Given the description of an element on the screen output the (x, y) to click on. 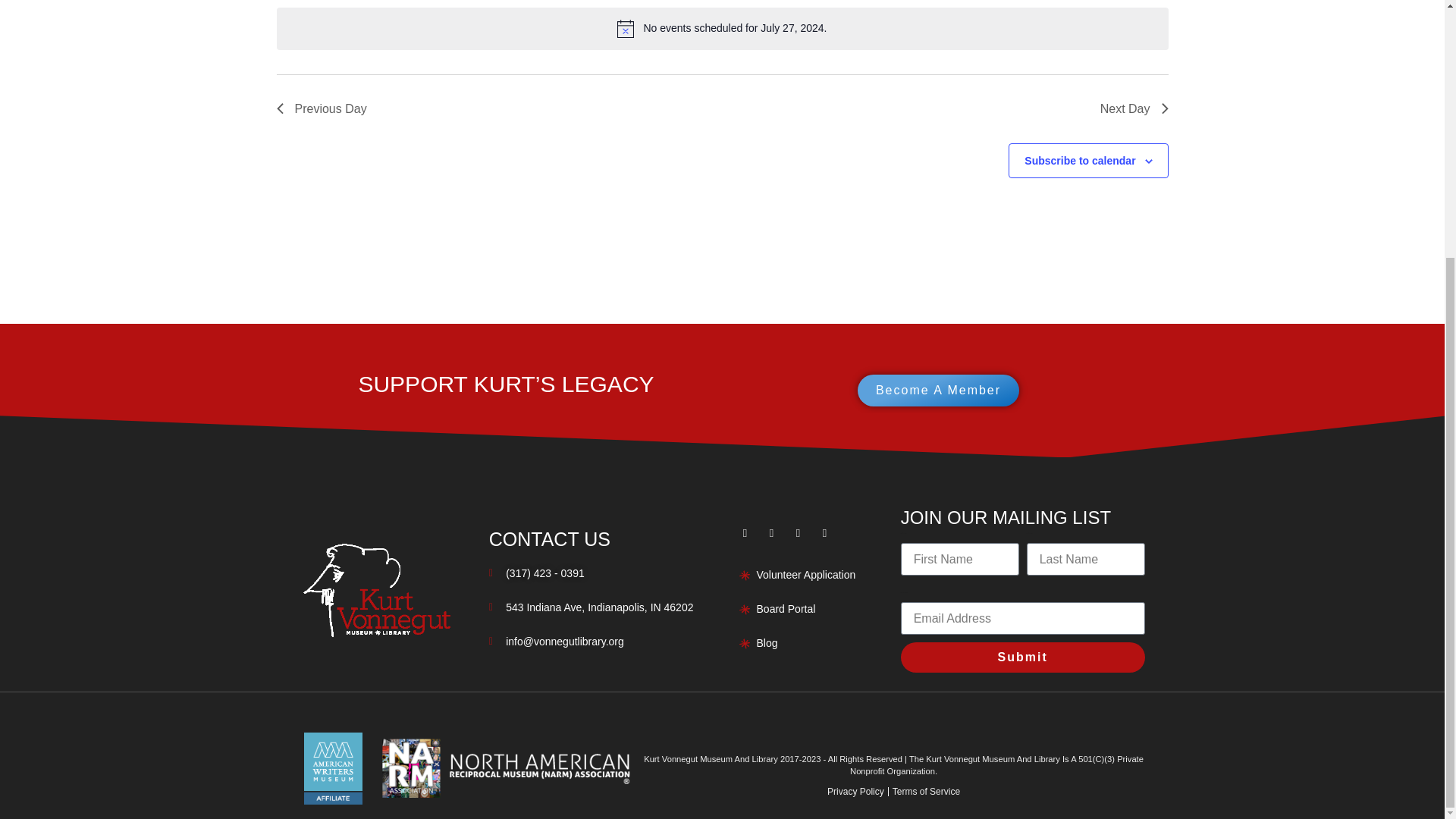
Next Day (1134, 108)
Previous Day (321, 108)
